Given the description of an element on the screen output the (x, y) to click on. 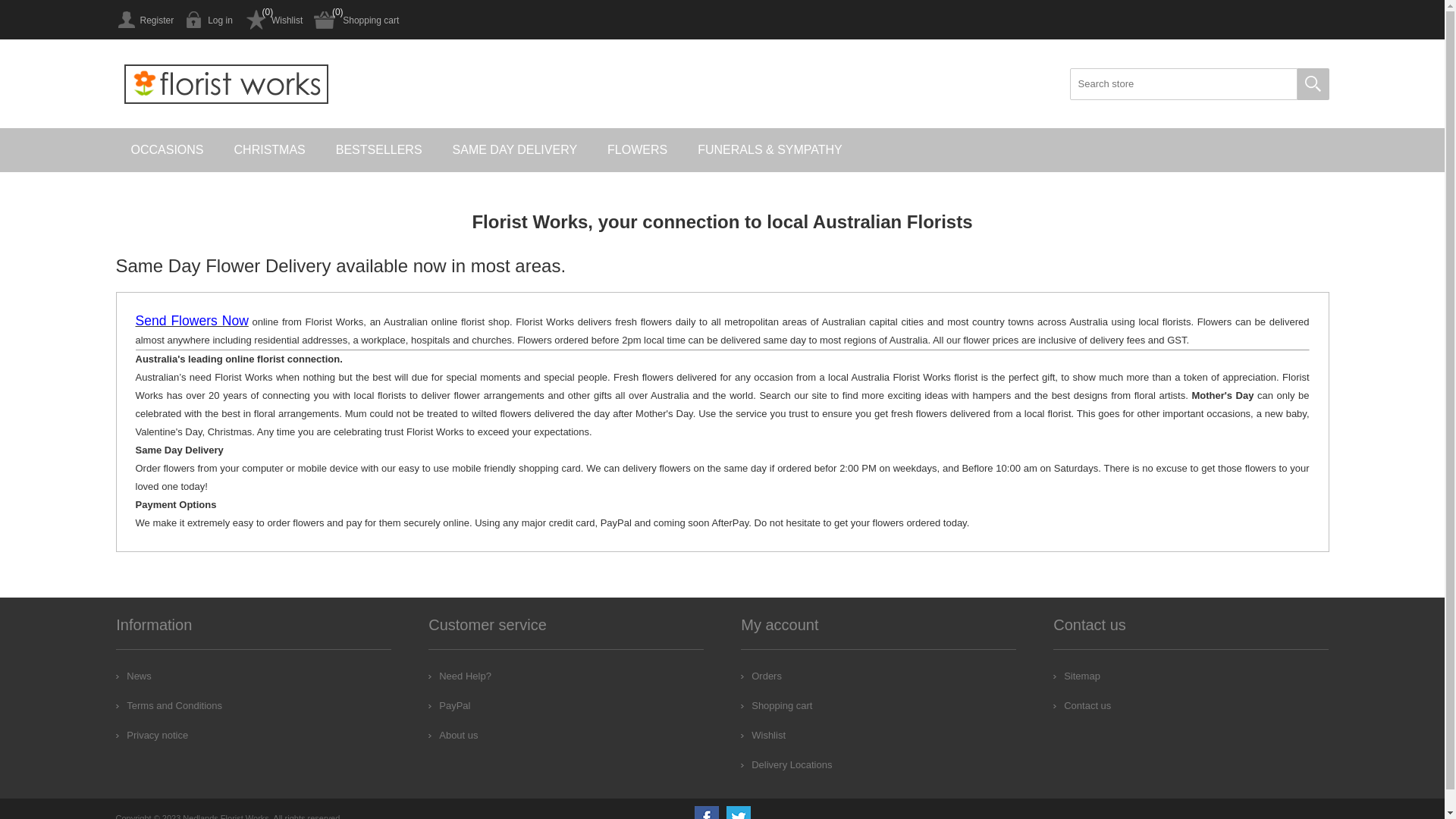
OCCASIONS Element type: text (166, 150)
Send Flowers Now Element type: text (190, 321)
Need Help? Element type: text (459, 675)
Register Element type: text (144, 19)
Contact us Element type: text (1081, 705)
FUNERALS & SYMPATHY Element type: text (769, 150)
PayPal Element type: text (449, 705)
CHRISTMAS Element type: text (269, 150)
News Element type: text (133, 675)
BESTSELLERS Element type: text (378, 150)
FLOWERS Element type: text (637, 150)
Shopping cart Element type: text (355, 19)
Terms and Conditions Element type: text (169, 705)
SAME DAY DELIVERY Element type: text (515, 150)
Log in Element type: text (208, 19)
Delivery Locations Element type: text (785, 764)
Sitemap Element type: text (1076, 675)
Wishlist Element type: text (762, 734)
Search Element type: text (1312, 84)
Shopping cart Element type: text (776, 705)
Orders Element type: text (760, 675)
About us Element type: text (452, 734)
Privacy notice Element type: text (152, 734)
Wishlist Element type: text (273, 19)
